Given the description of an element on the screen output the (x, y) to click on. 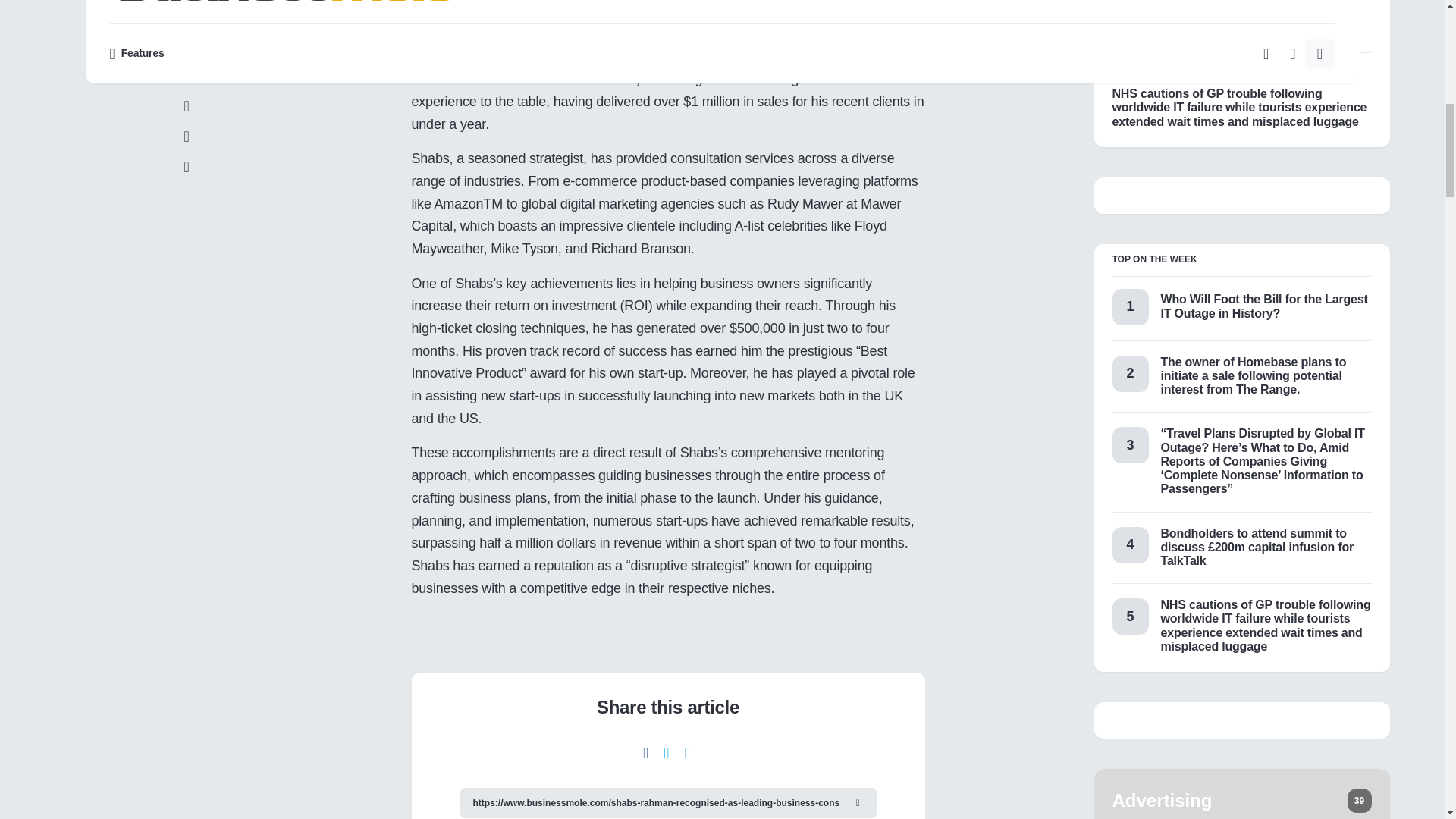
View all posts by Jeff Newmond (1143, 2)
View all posts by Jeff Newmond (1143, 74)
